Given the description of an element on the screen output the (x, y) to click on. 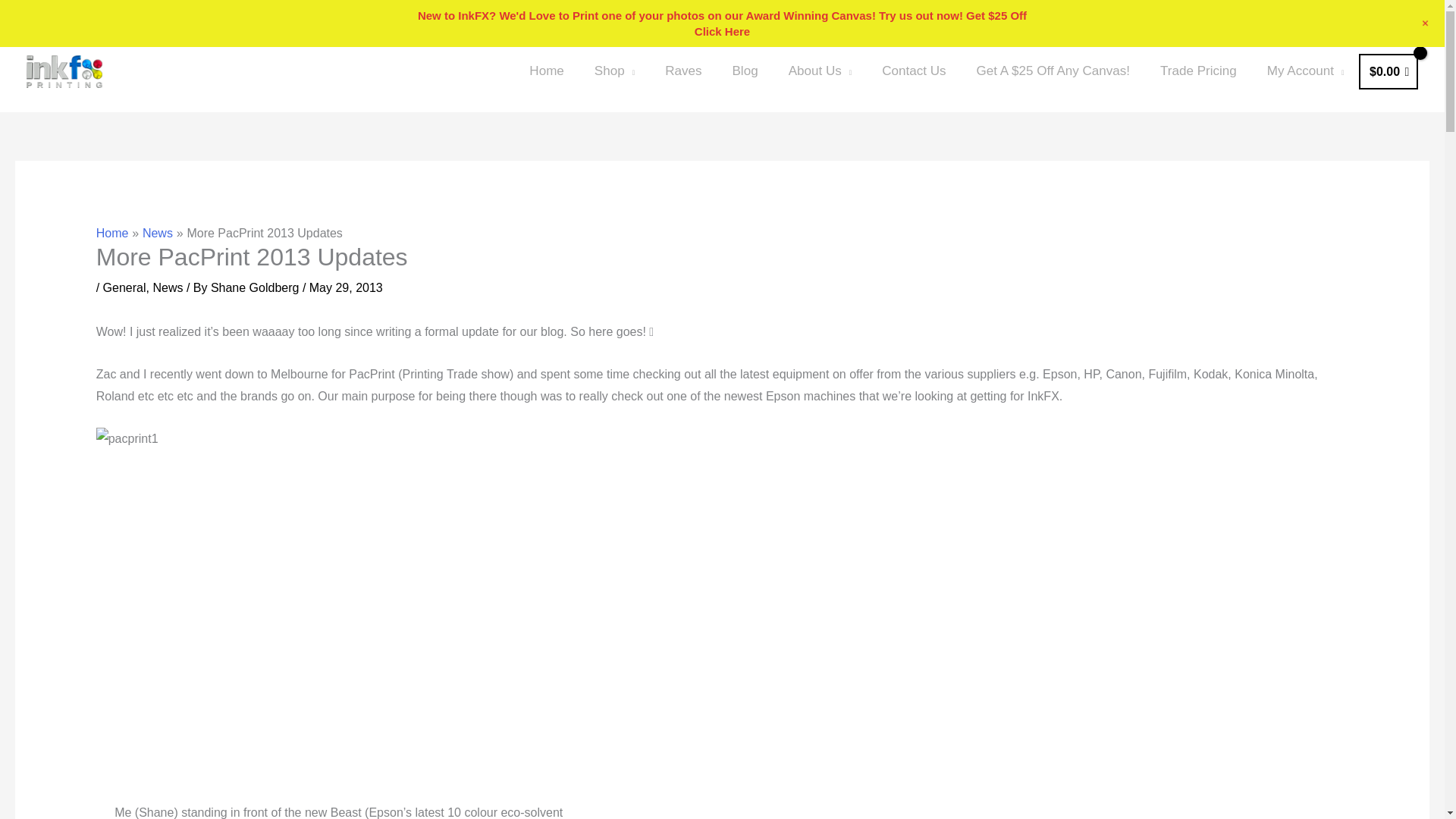
Shop (614, 71)
View all posts by Shane Goldberg (256, 287)
Home (545, 71)
